Given the description of an element on the screen output the (x, y) to click on. 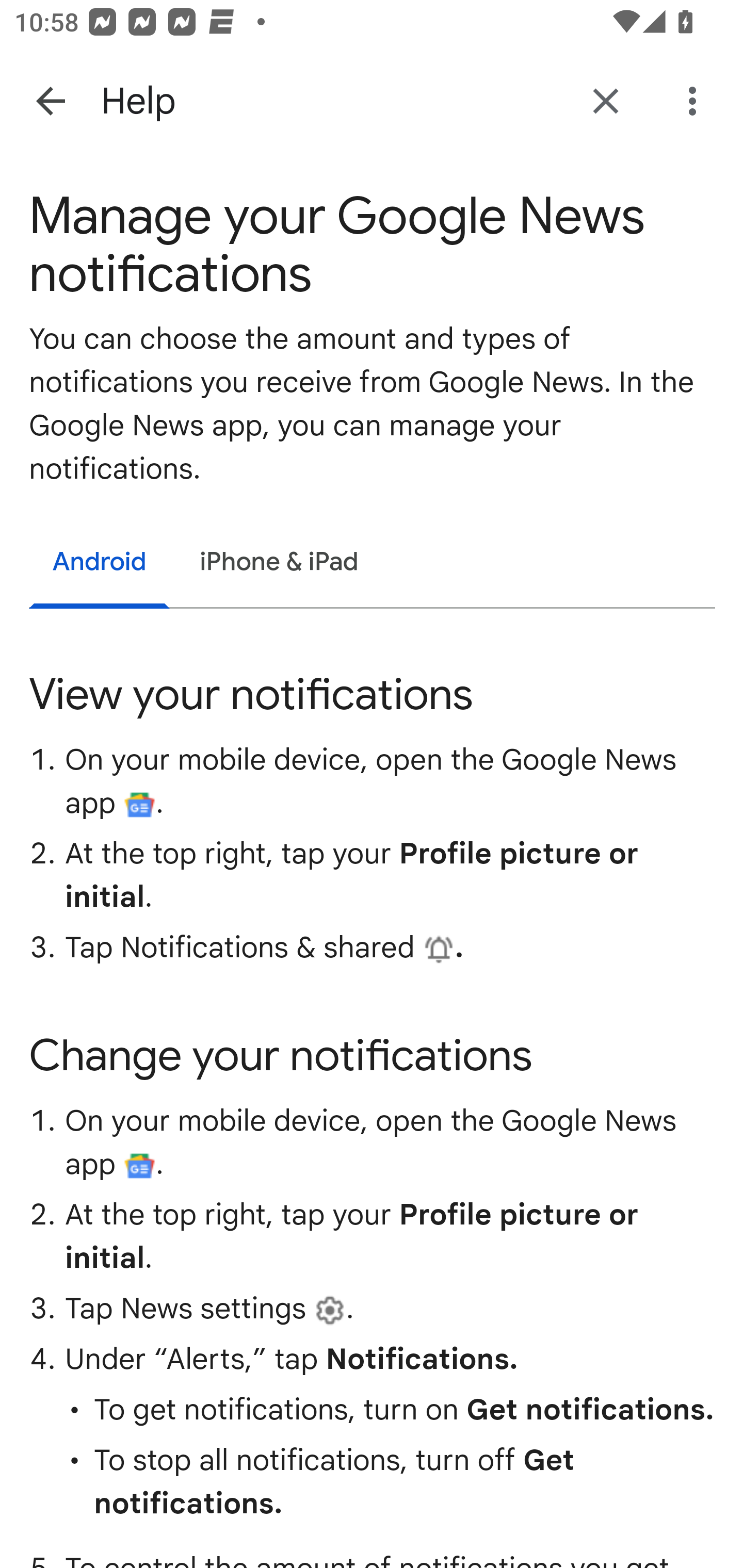
Navigate up (50, 101)
Return to Google News (605, 101)
More options (696, 101)
Android (99, 564)
iPhone & iPad (278, 563)
